Given the description of an element on the screen output the (x, y) to click on. 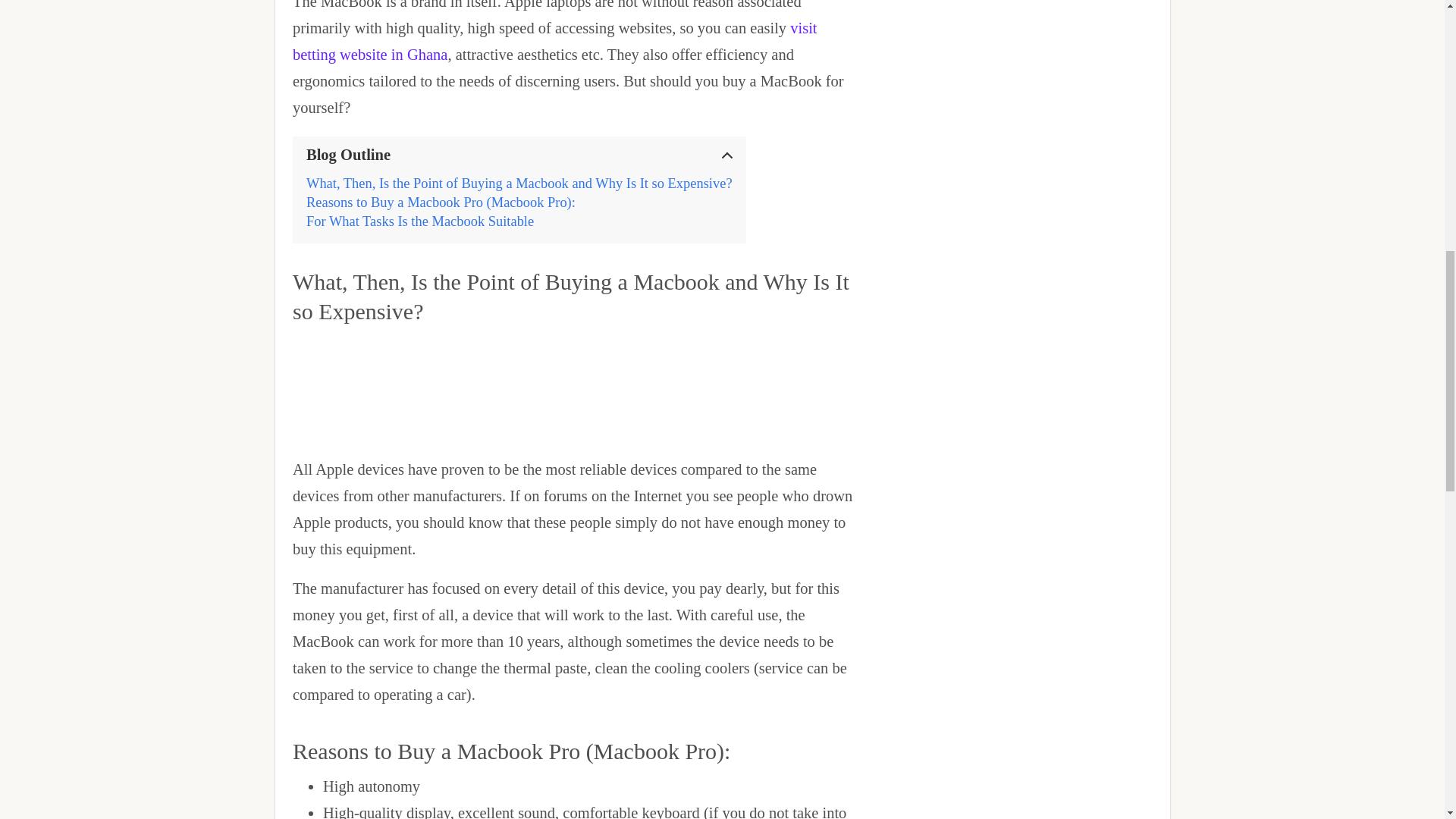
For What Tasks Is the Macbook Suitable  (421, 221)
visit betting website in Ghana (554, 41)
